Given the description of an element on the screen output the (x, y) to click on. 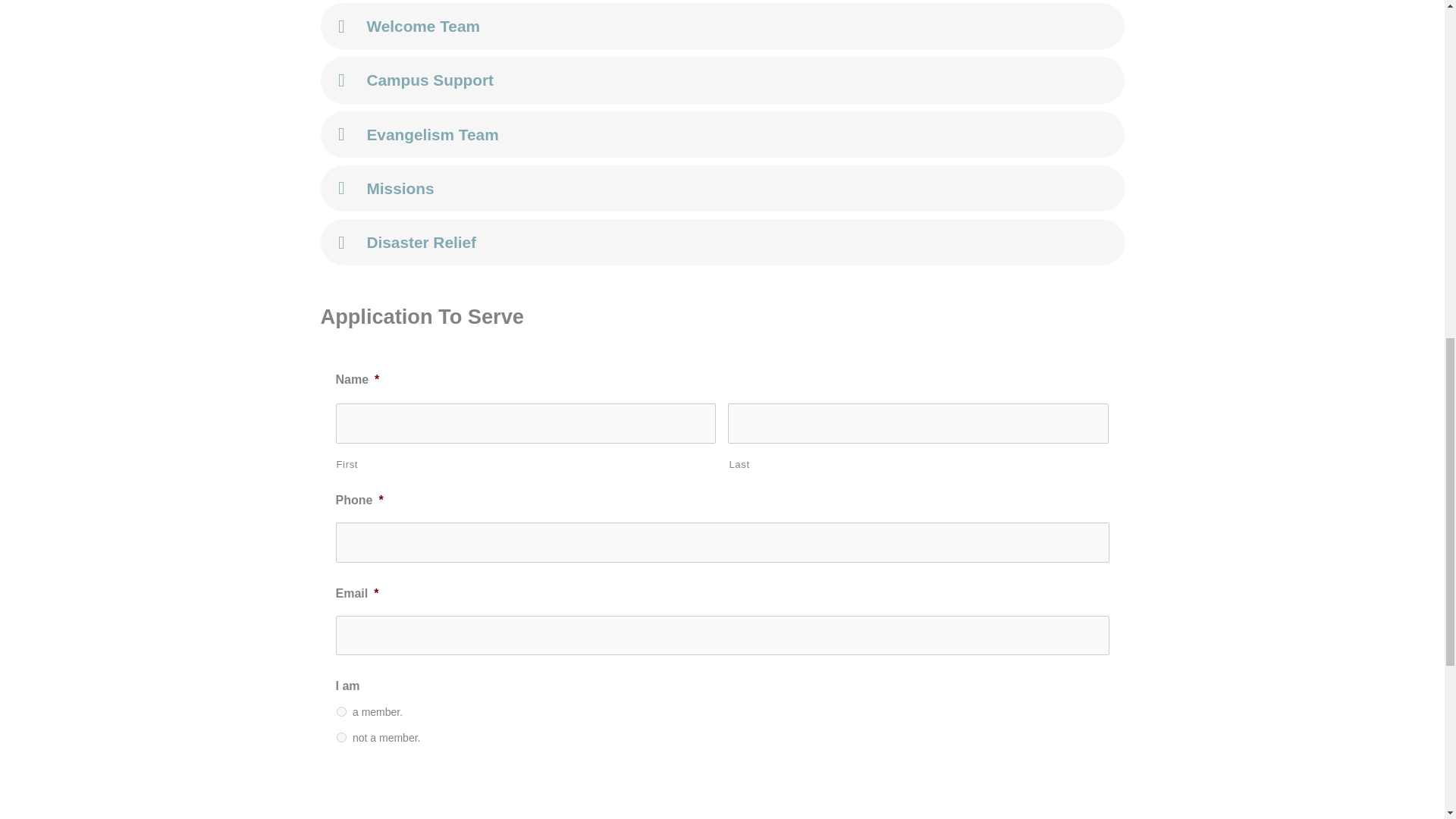
not a member. (341, 737)
a member. (341, 711)
